Given the description of an element on the screen output the (x, y) to click on. 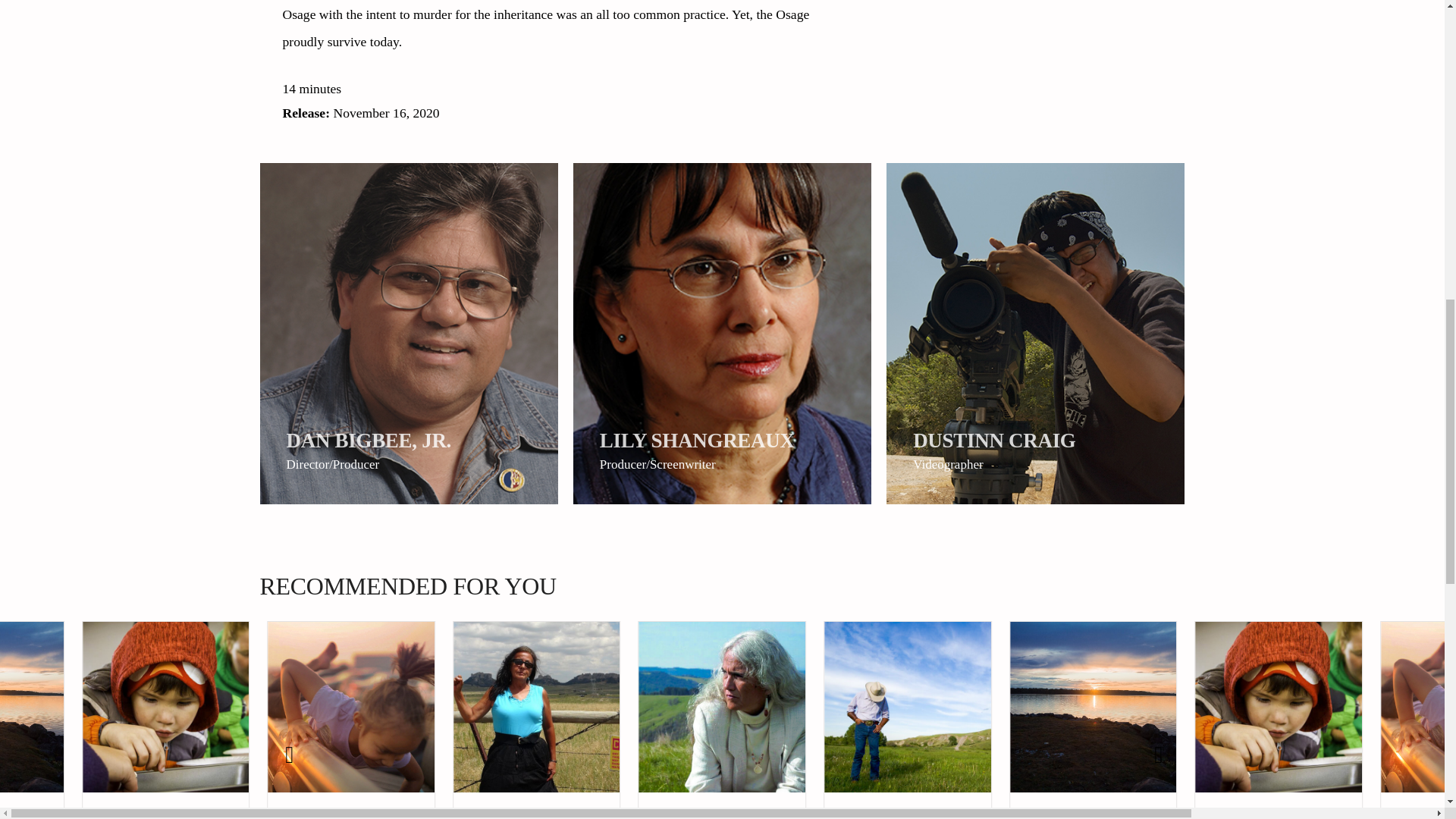
DAWNLAND (1093, 814)
Tribal Justice (721, 814)
Crying Earth Rise Up (536, 814)
Blood Memory (350, 814)
The Seven Generation River (1278, 814)
Blood Memory (1435, 814)
DAWNLAND (8, 814)
The Seven Generation River (165, 814)
The Blackfeet Flood (908, 814)
